Given the description of an element on the screen output the (x, y) to click on. 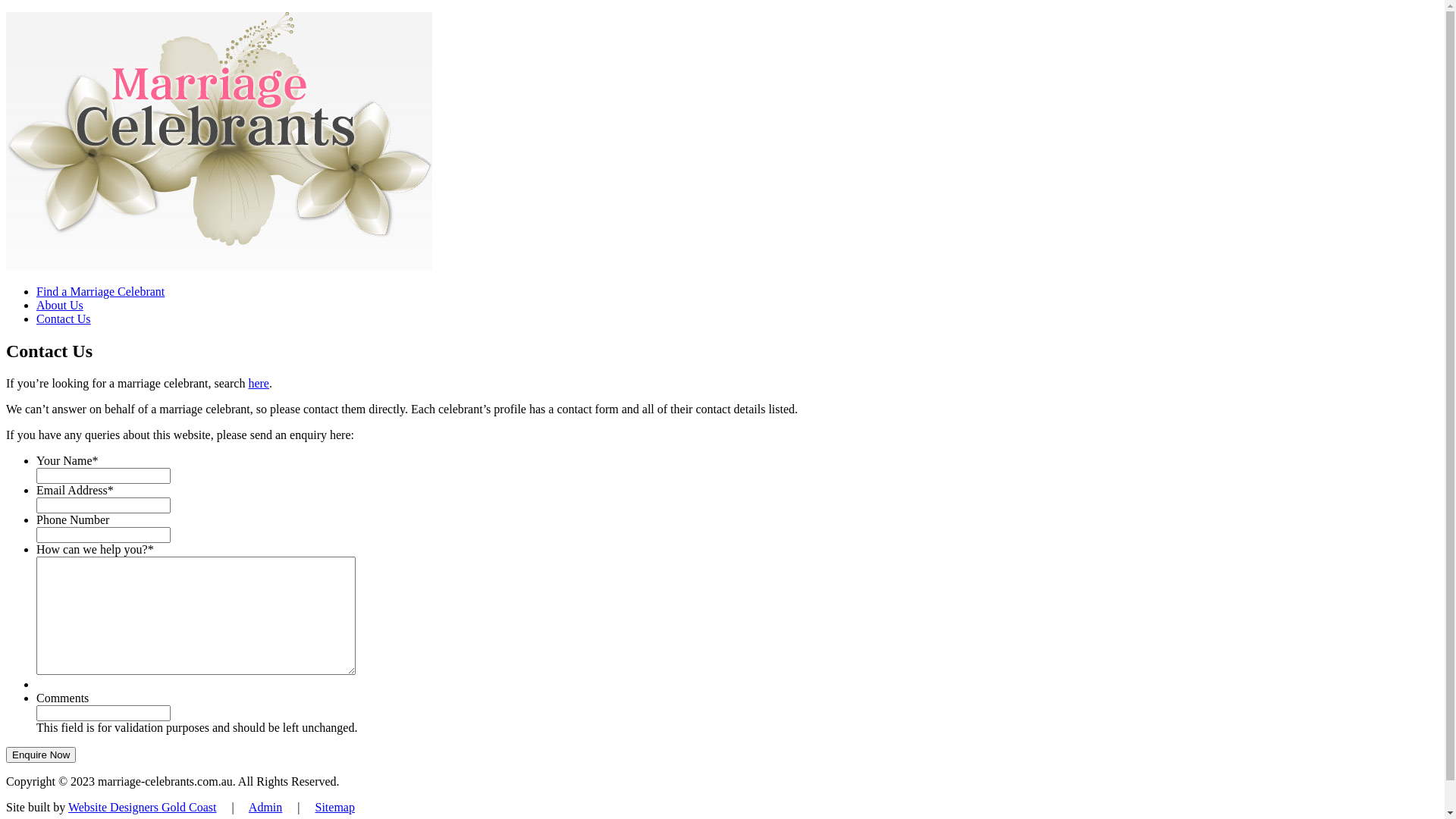
Website Designers Gold Coast Element type: text (142, 806)
Admin Element type: text (265, 806)
Find a Marriage Celebrant Element type: text (100, 291)
Sitemap Element type: text (334, 806)
About Us Element type: text (59, 304)
Marriage Celebrants Element type: hover (219, 265)
Contact Us Element type: text (63, 318)
here Element type: text (258, 382)
Enquire Now Element type: text (40, 754)
